Given the description of an element on the screen output the (x, y) to click on. 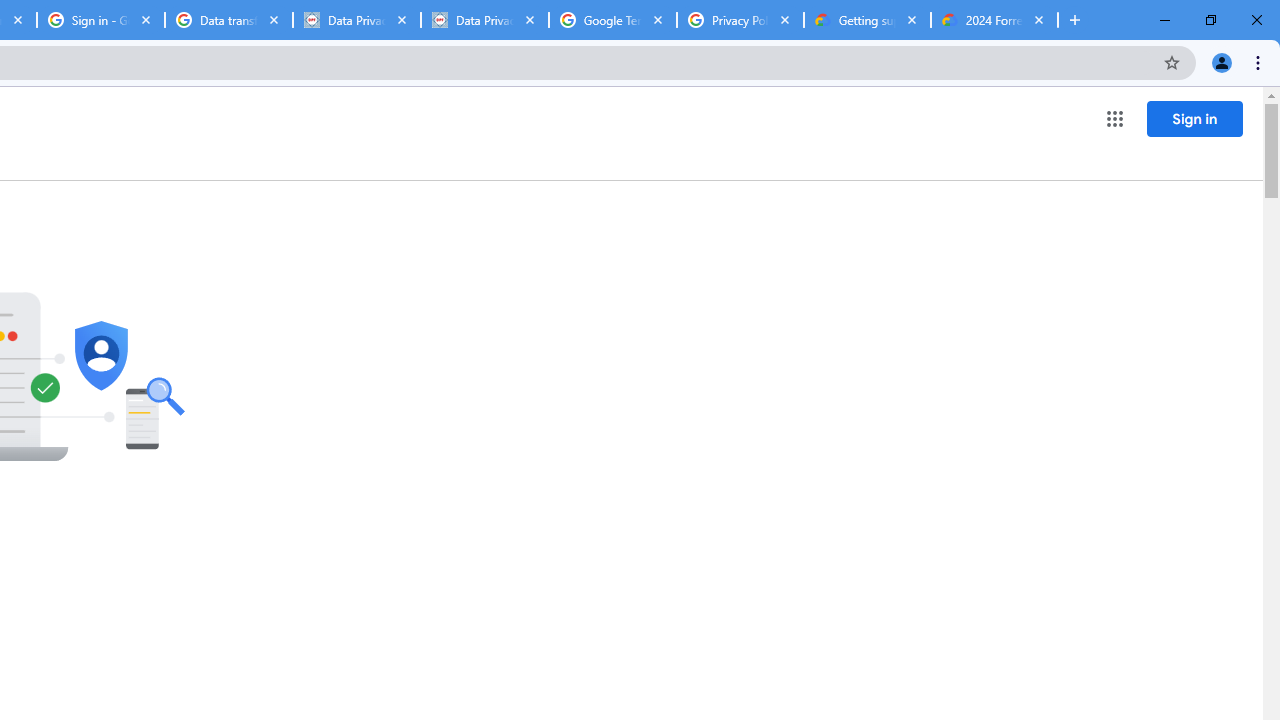
Bookmark this tab (1171, 62)
Minimize (1165, 20)
